Given the description of an element on the screen output the (x, y) to click on. 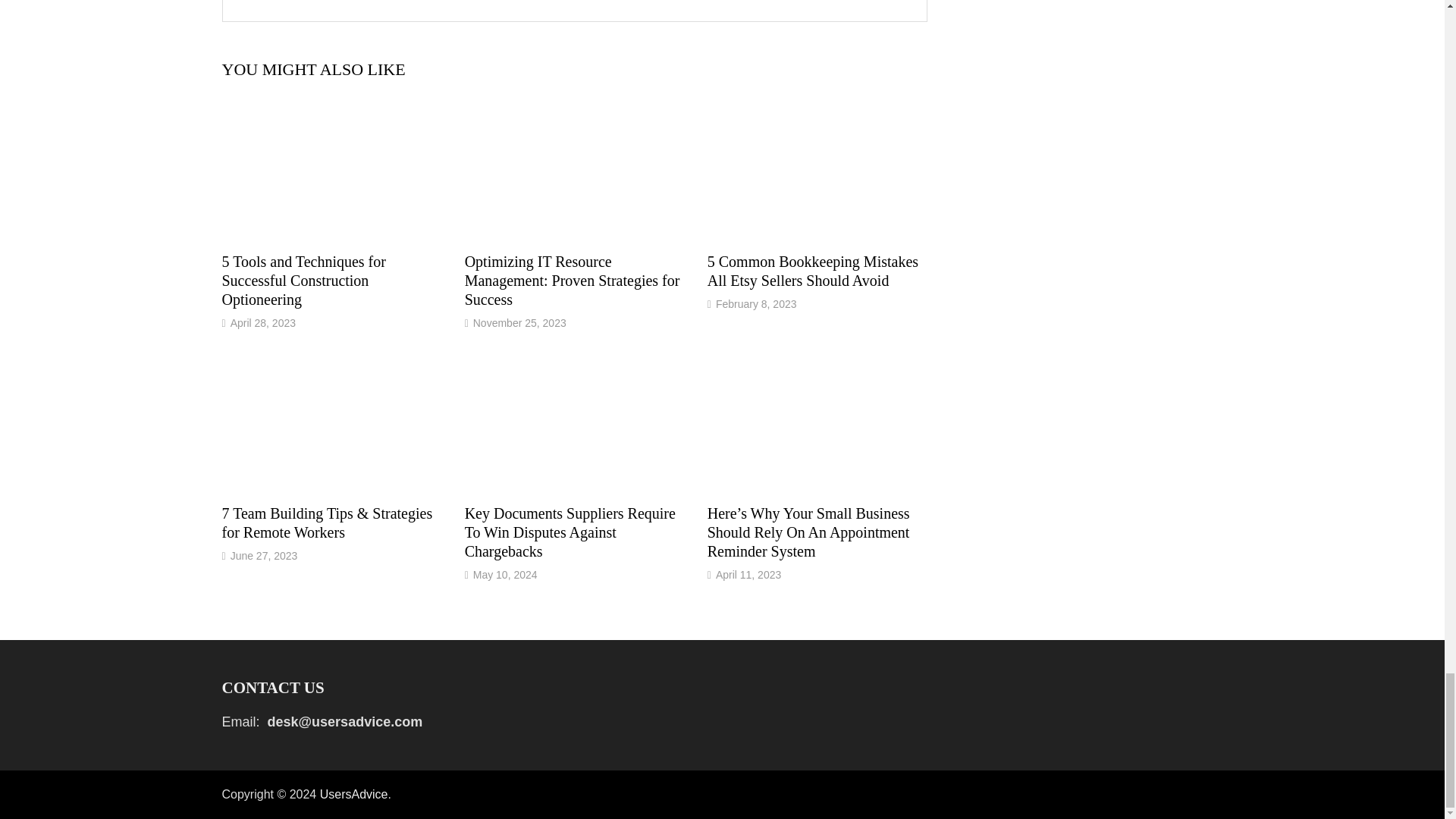
5 Common Bookkeeping Mistakes All Etsy Sellers Should Avoid (812, 271)
